Given the description of an element on the screen output the (x, y) to click on. 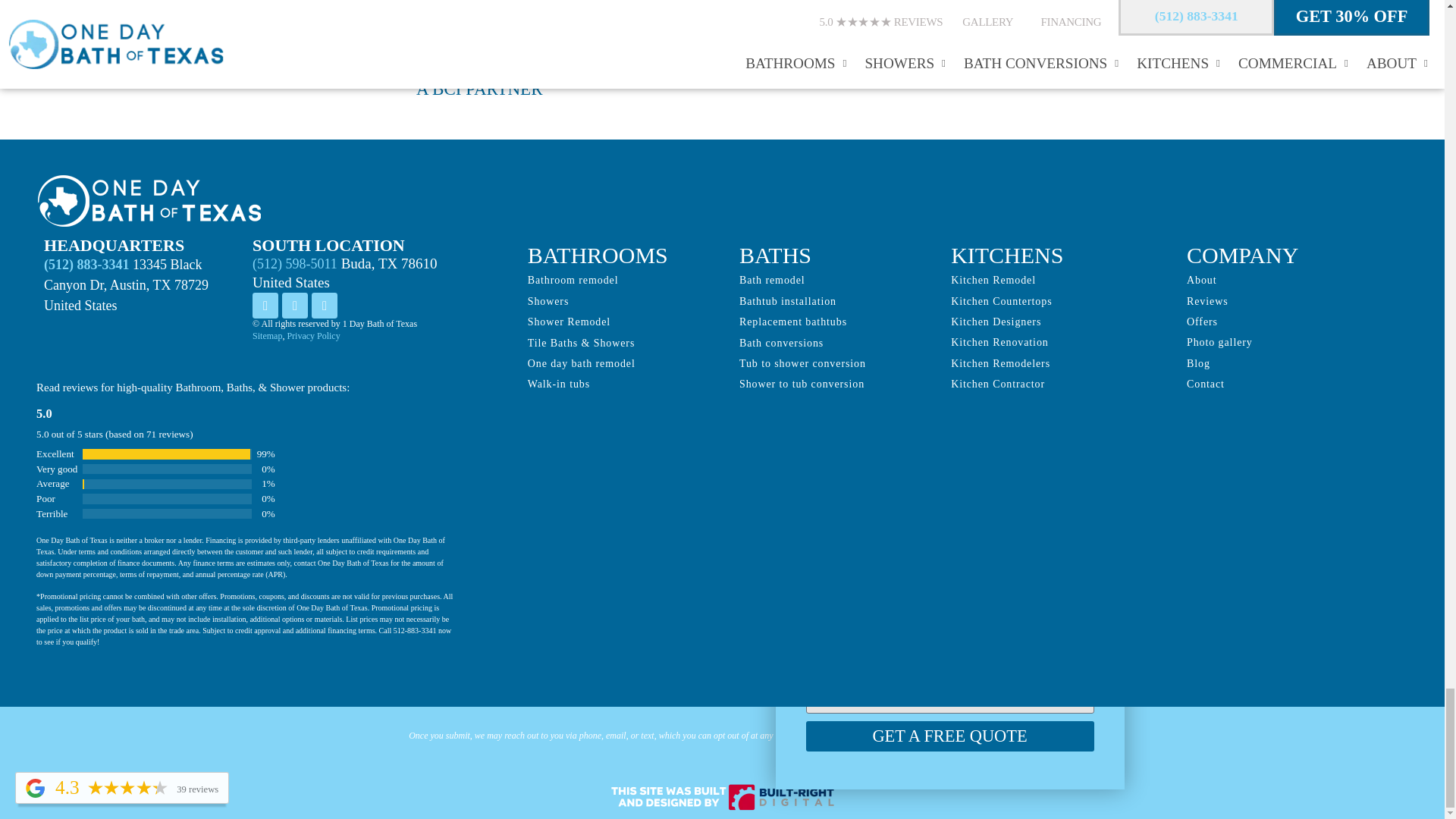
Remodelingloans.com-Badge-Seal.png (1186, 36)
